Given the description of an element on the screen output the (x, y) to click on. 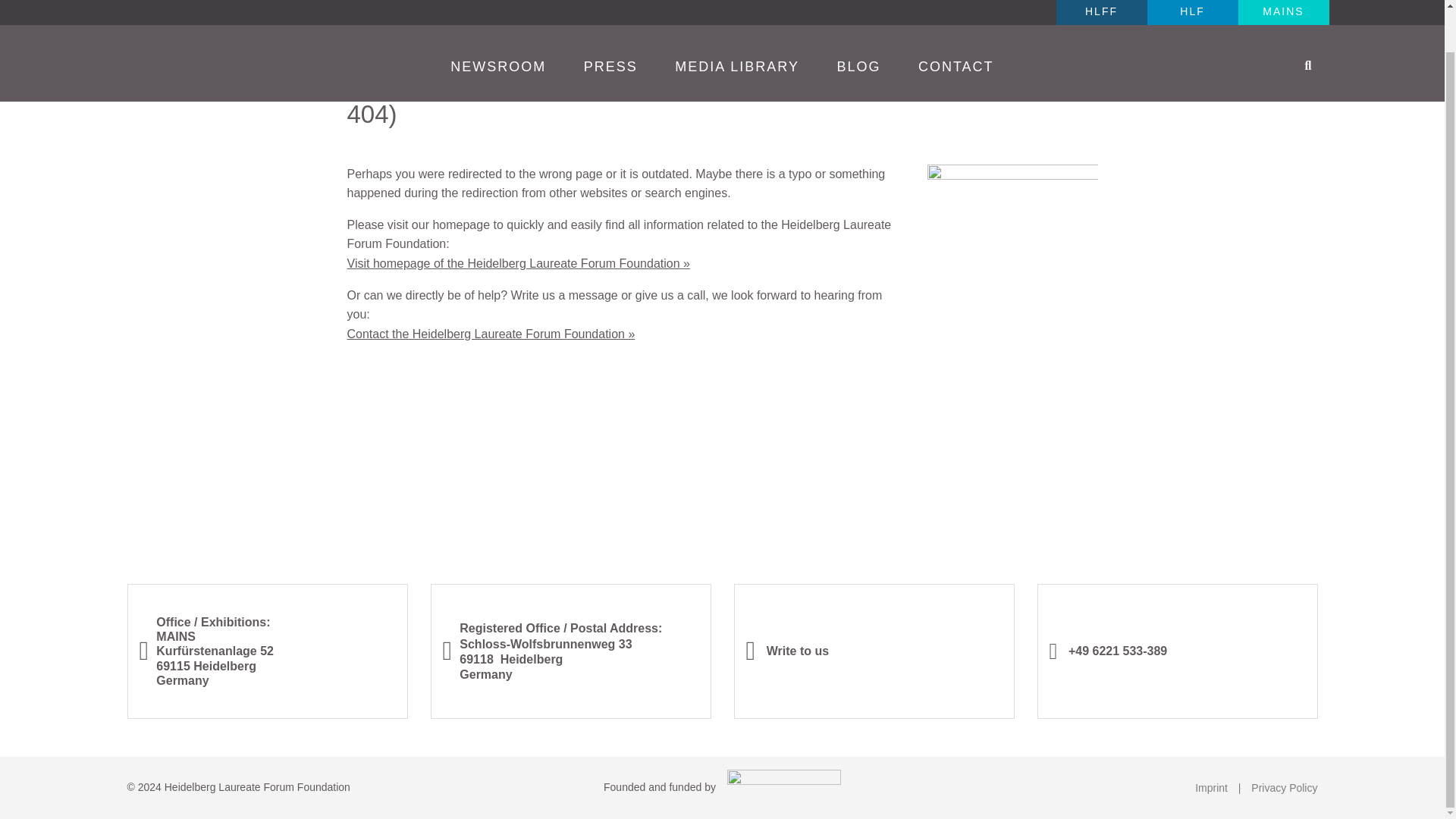
Visit homepage of the Heidelberg Laureate Forum Foundation (518, 263)
NEWSROOM (498, 22)
Imprint (1211, 787)
Imprint (1211, 787)
Media Library (736, 22)
MEDIA LIBRARY (736, 22)
Privacy Policy (1283, 787)
Newsroom (498, 22)
PRESS (610, 22)
Contact the Heidelberg Laureate Forum Foundation (490, 333)
Press (610, 22)
Contact (956, 22)
Write to us (787, 651)
BLOG (858, 22)
CONTACT (956, 22)
